Given the description of an element on the screen output the (x, y) to click on. 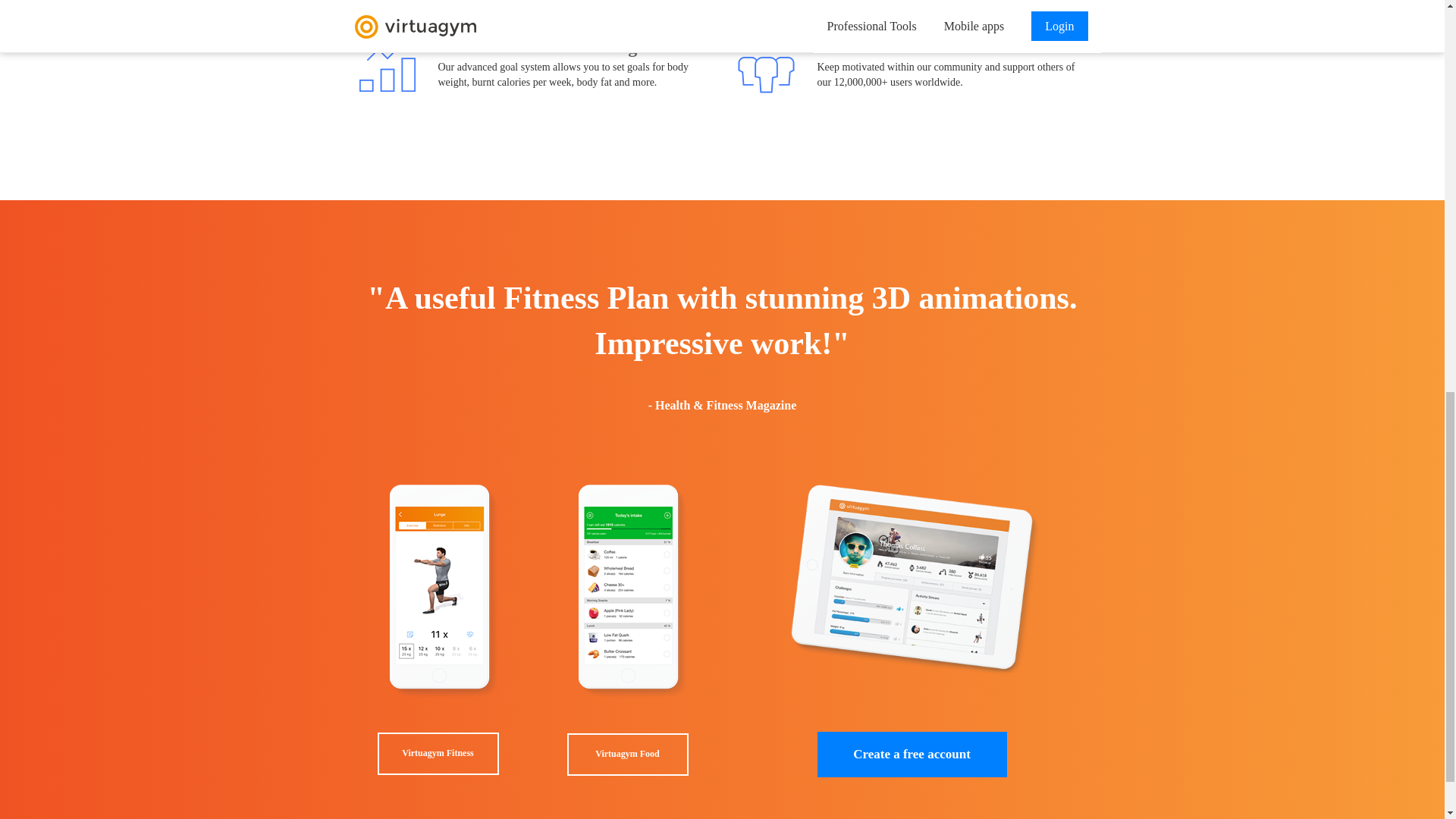
Virtuagym Fitness (437, 753)
Create a free account (911, 754)
Virtuagym Food (626, 754)
